Given the description of an element on the screen output the (x, y) to click on. 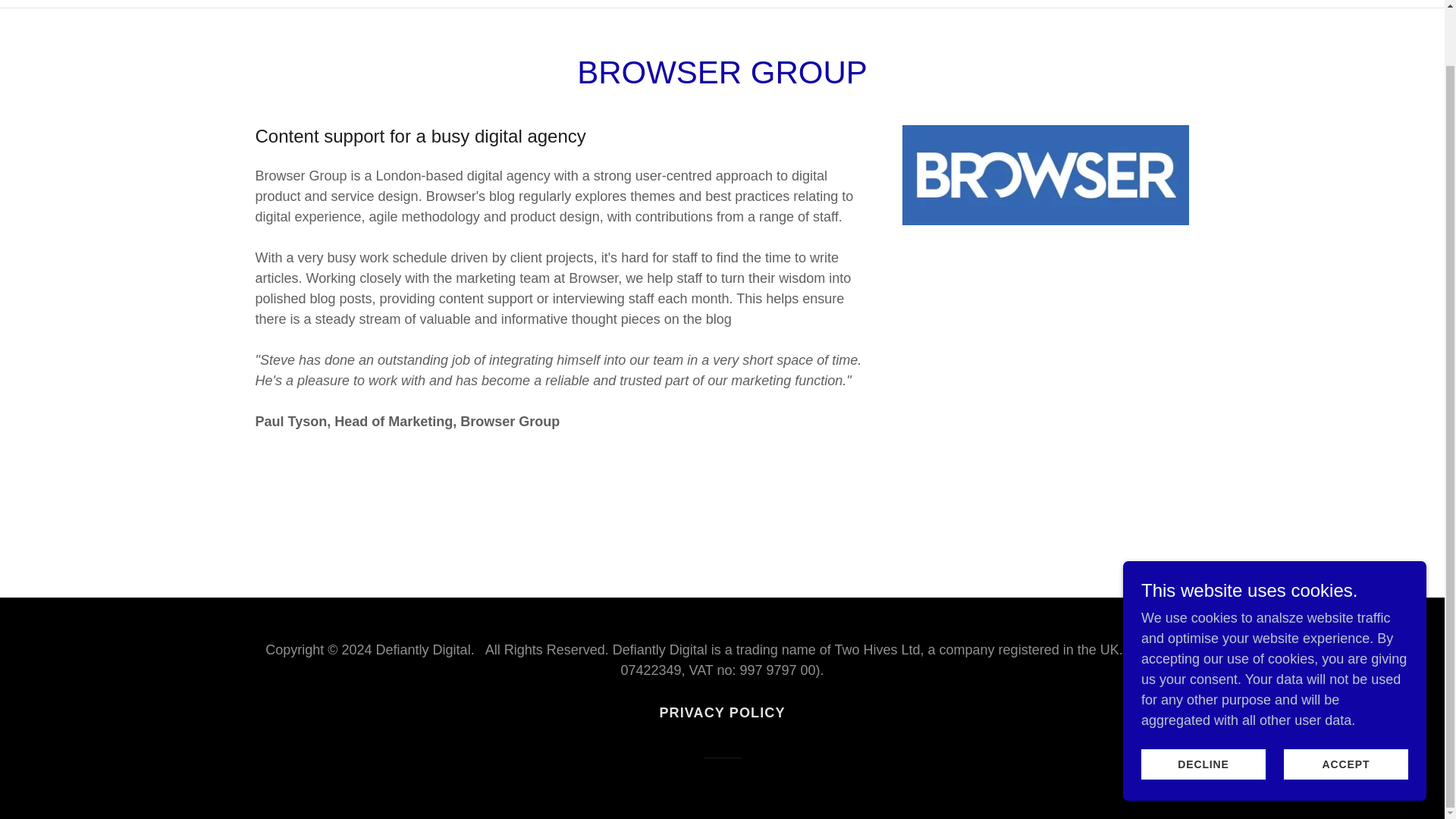
PRIVACY POLICY (721, 713)
ACCEPT (1345, 703)
DECLINE (1203, 703)
